Given the description of an element on the screen output the (x, y) to click on. 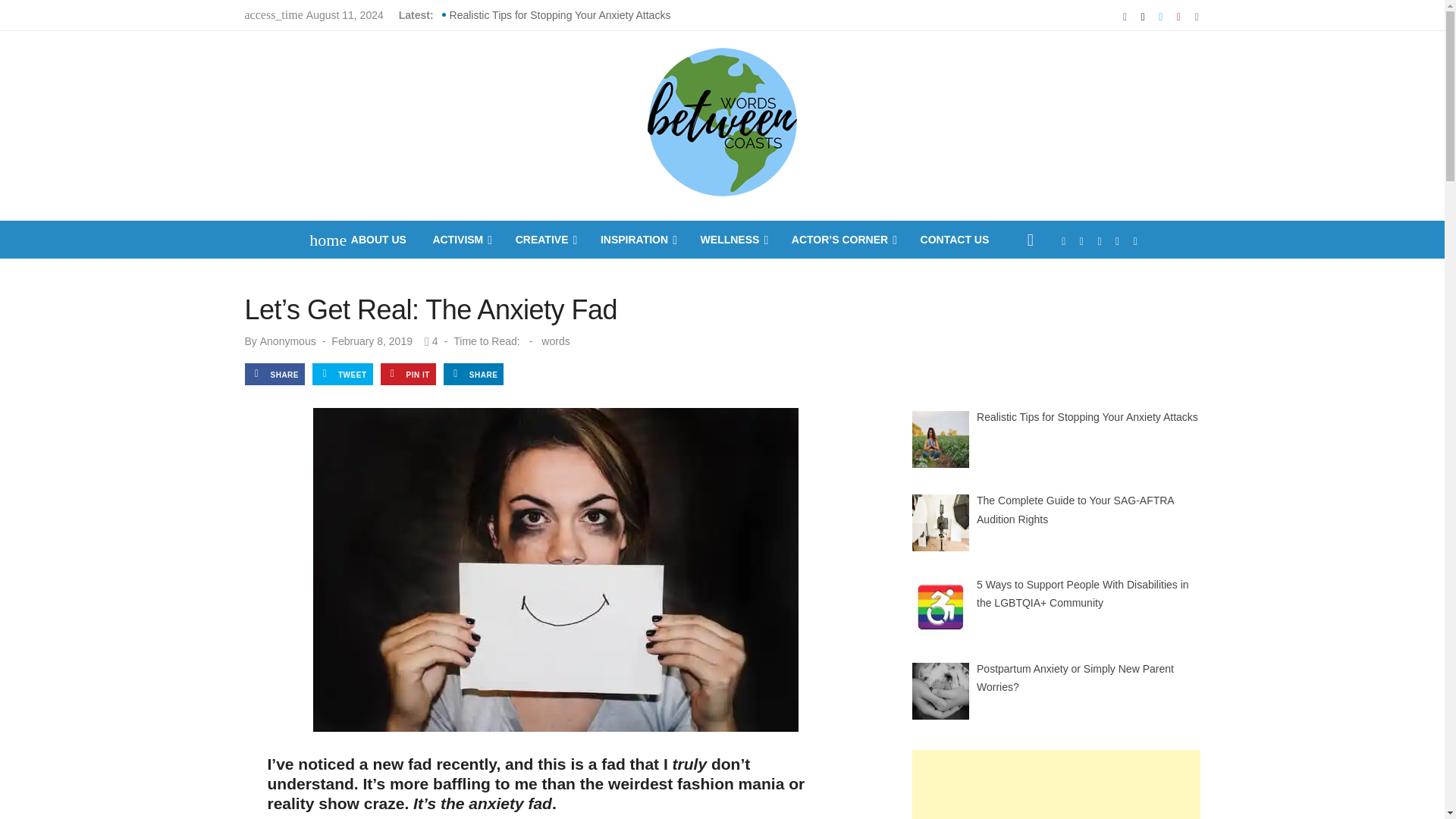
Share on Pinterest (407, 373)
Share on Twitter (342, 373)
Share on LinkedIn (473, 373)
INSPIRATION (636, 239)
home (319, 239)
Share on Facebook (274, 373)
ACTIVISM (460, 239)
Realistic Tips for Stopping Your Anxiety Attacks (560, 15)
CREATIVE (545, 239)
ABOUT US (378, 239)
